Given the description of an element on the screen output the (x, y) to click on. 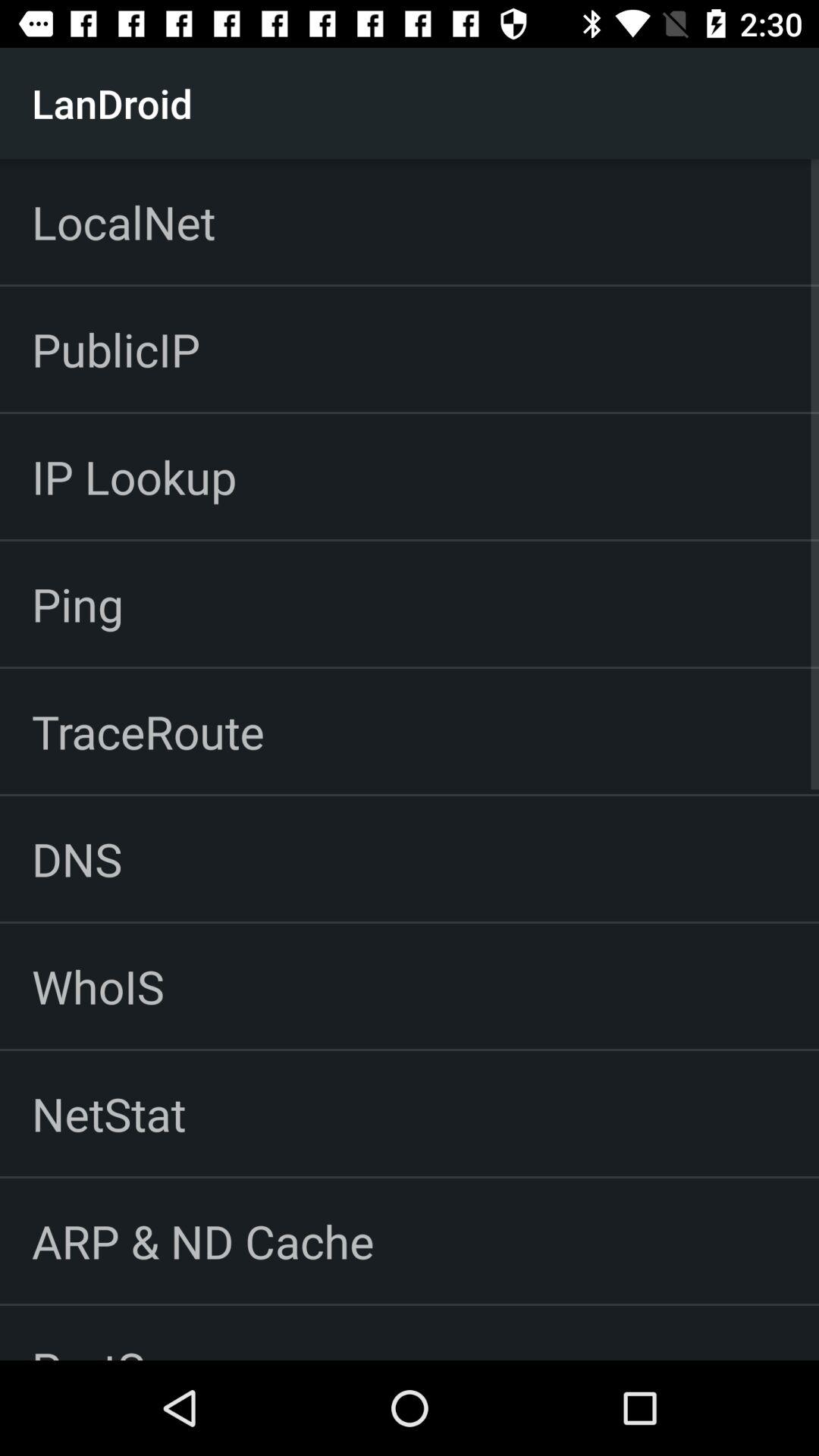
jump to ip lookup item (134, 476)
